Given the description of an element on the screen output the (x, y) to click on. 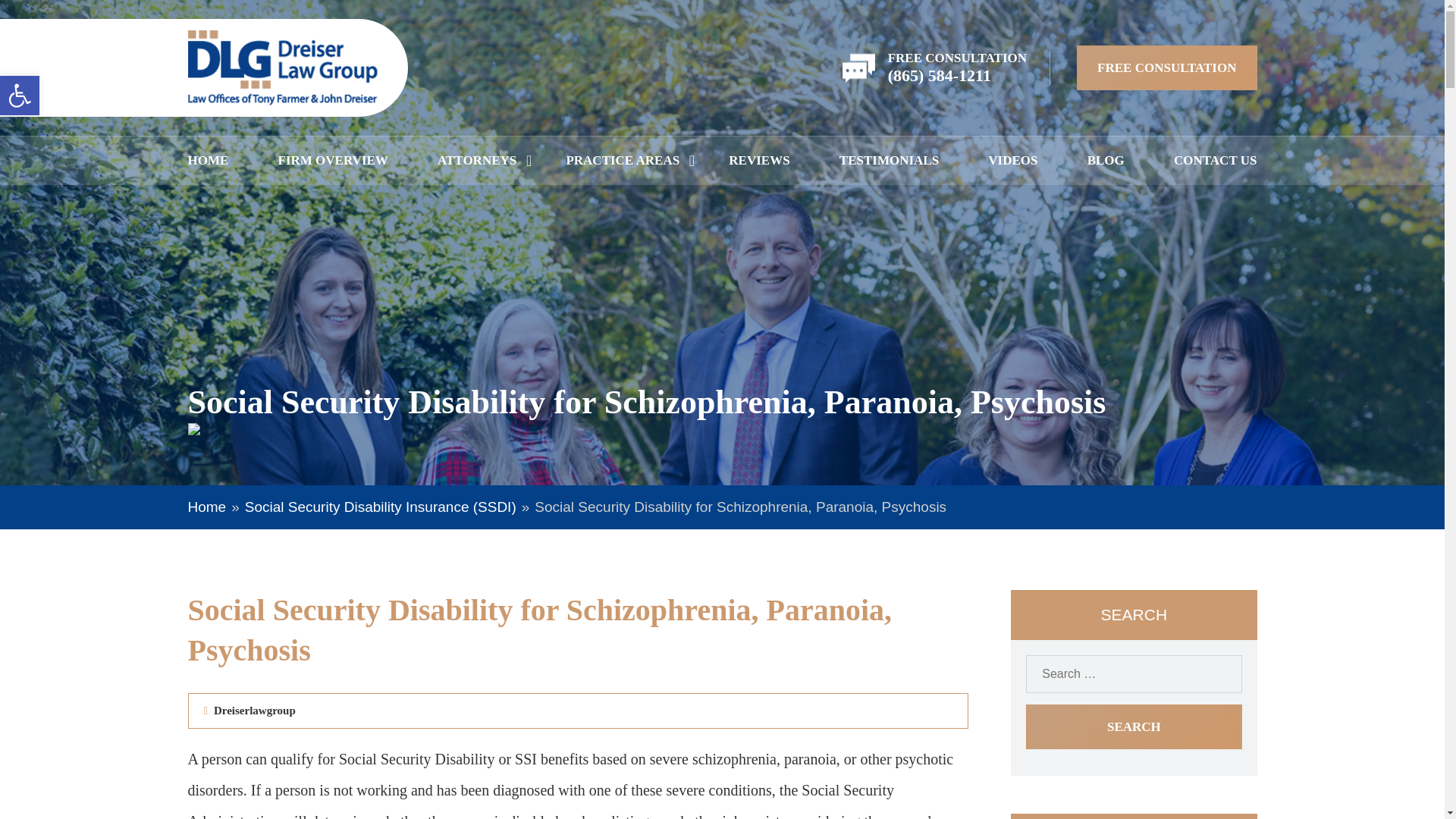
Search (1133, 726)
Accessibility Tools (19, 95)
ATTORNEYS (477, 160)
FREE CONSULTATION (1166, 67)
PRACTICE AREAS (622, 160)
Accessibility Tools (19, 95)
Search (1133, 726)
FIRM OVERVIEW (333, 160)
